Given the description of an element on the screen output the (x, y) to click on. 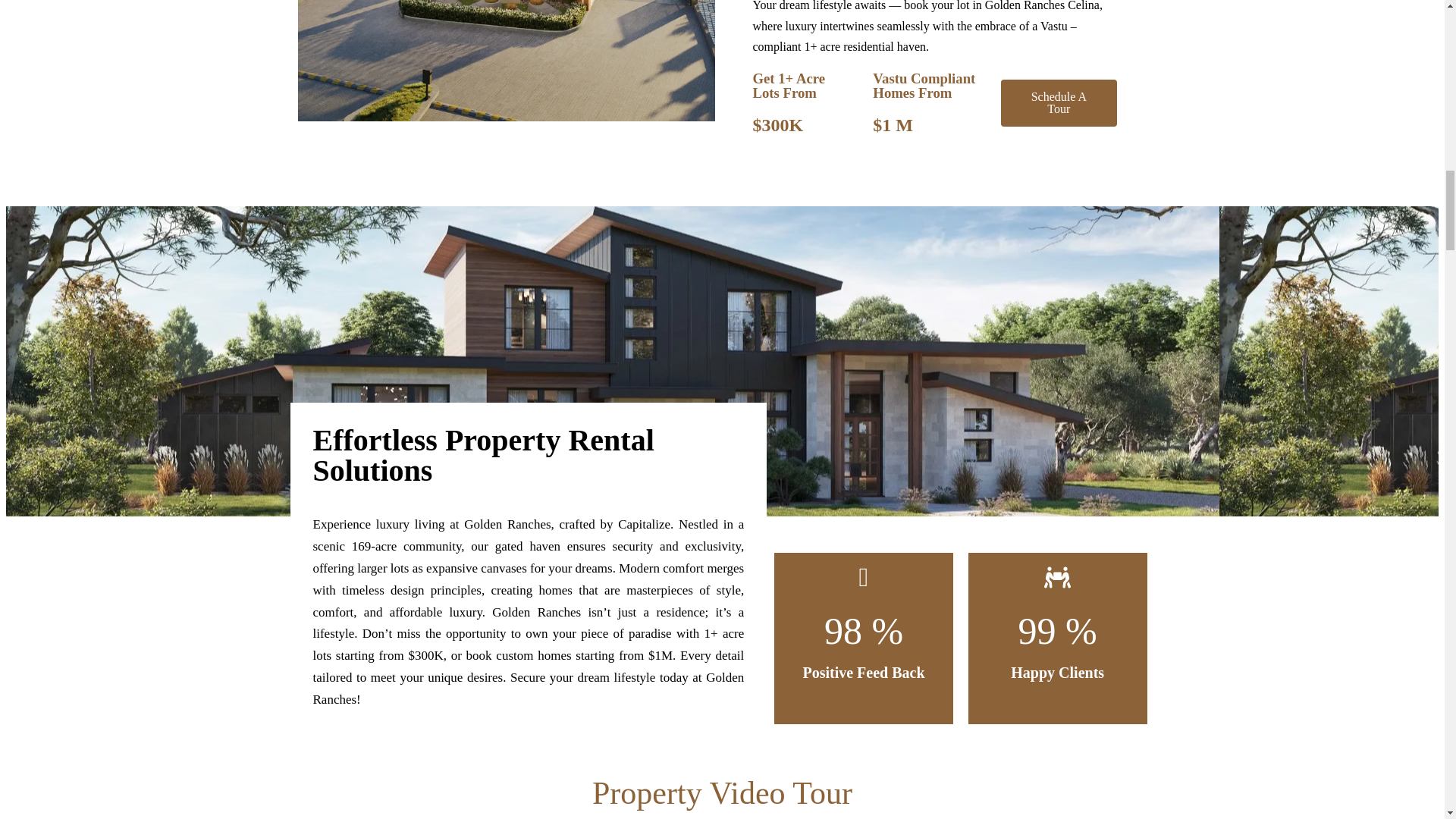
Schedule A Tour (1058, 102)
